Given the description of an element on the screen output the (x, y) to click on. 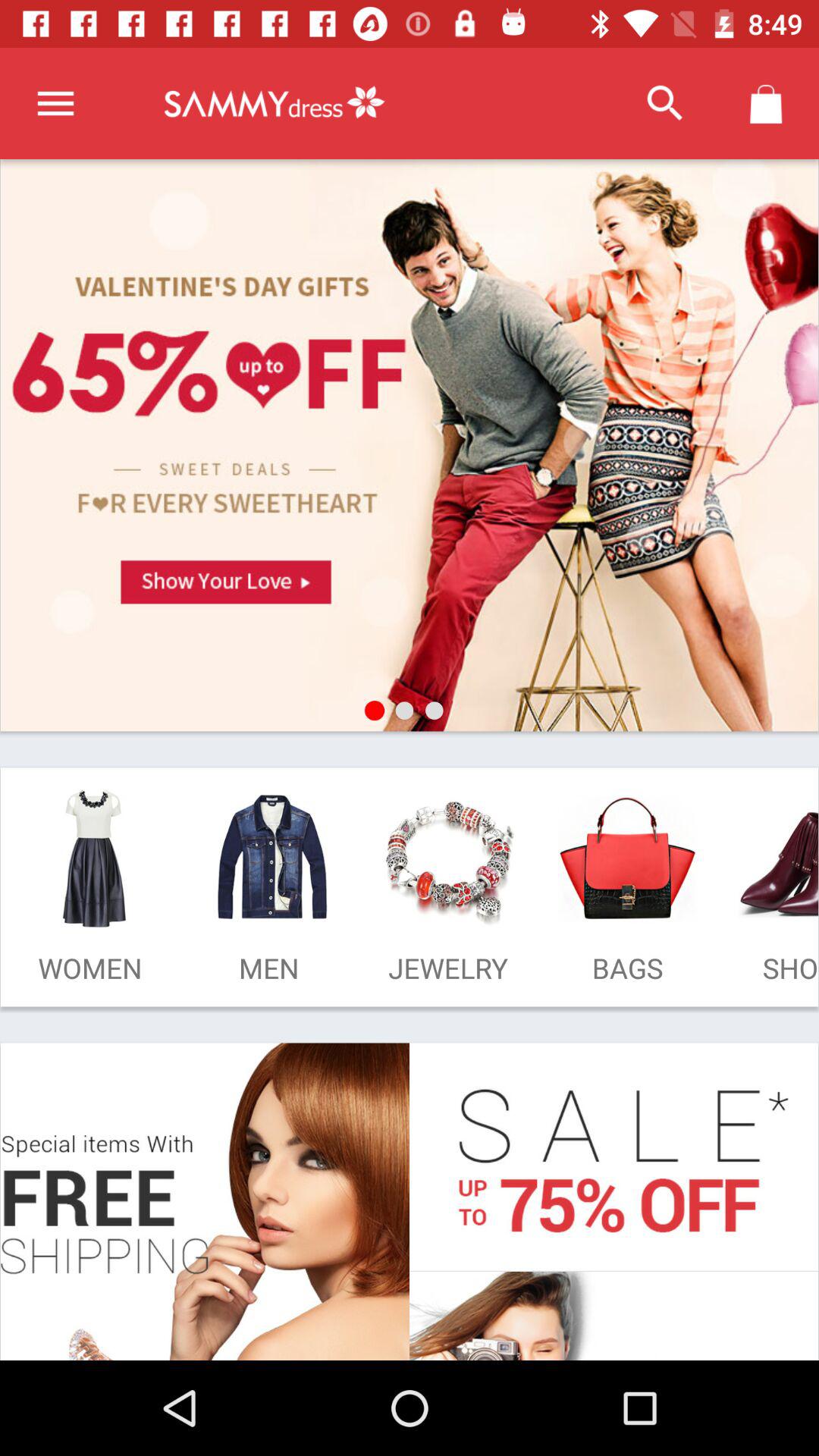
choose the icon at the top left corner (55, 103)
